Given the description of an element on the screen output the (x, y) to click on. 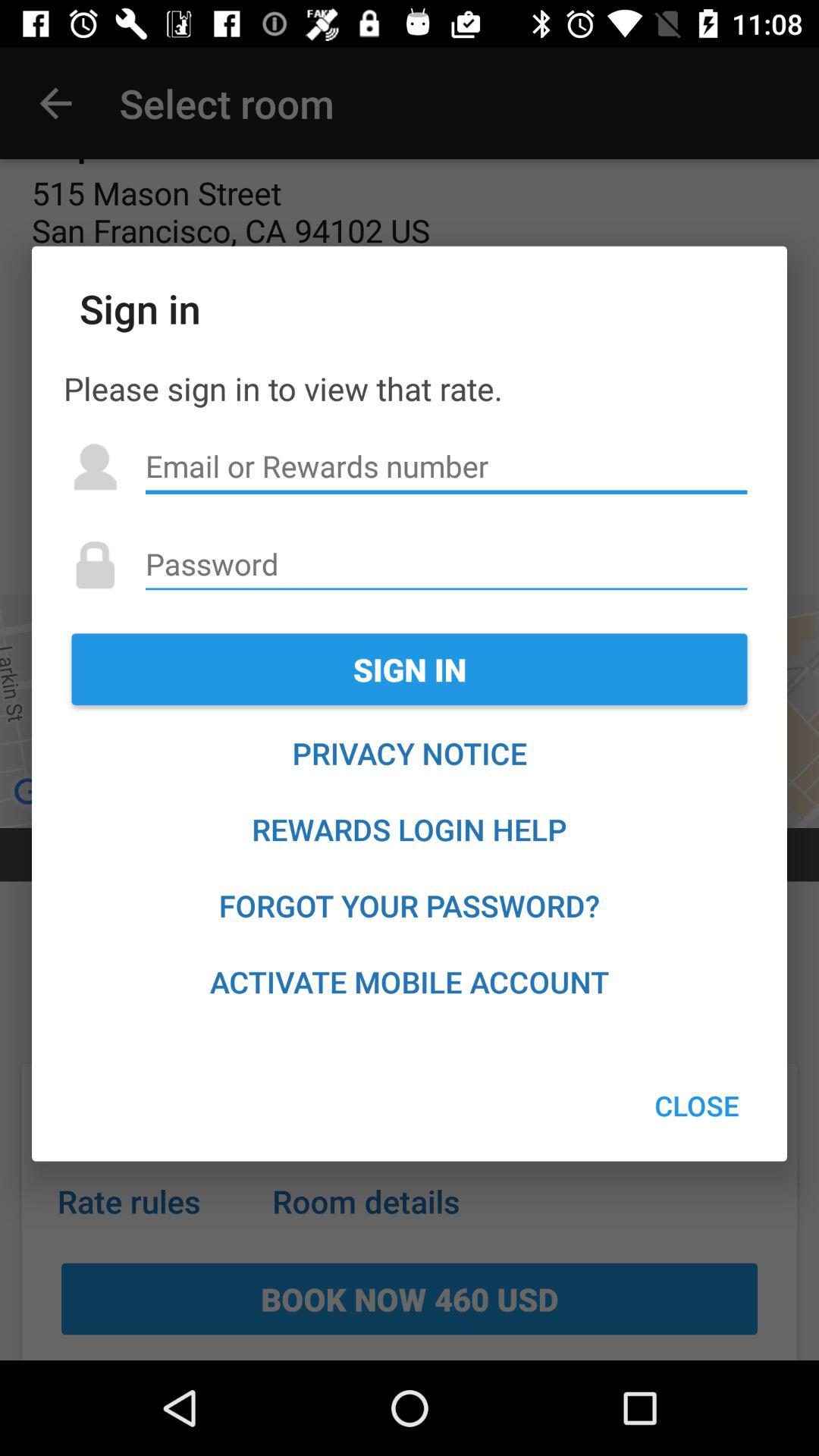
open forgot your password? icon (409, 905)
